Given the description of an element on the screen output the (x, y) to click on. 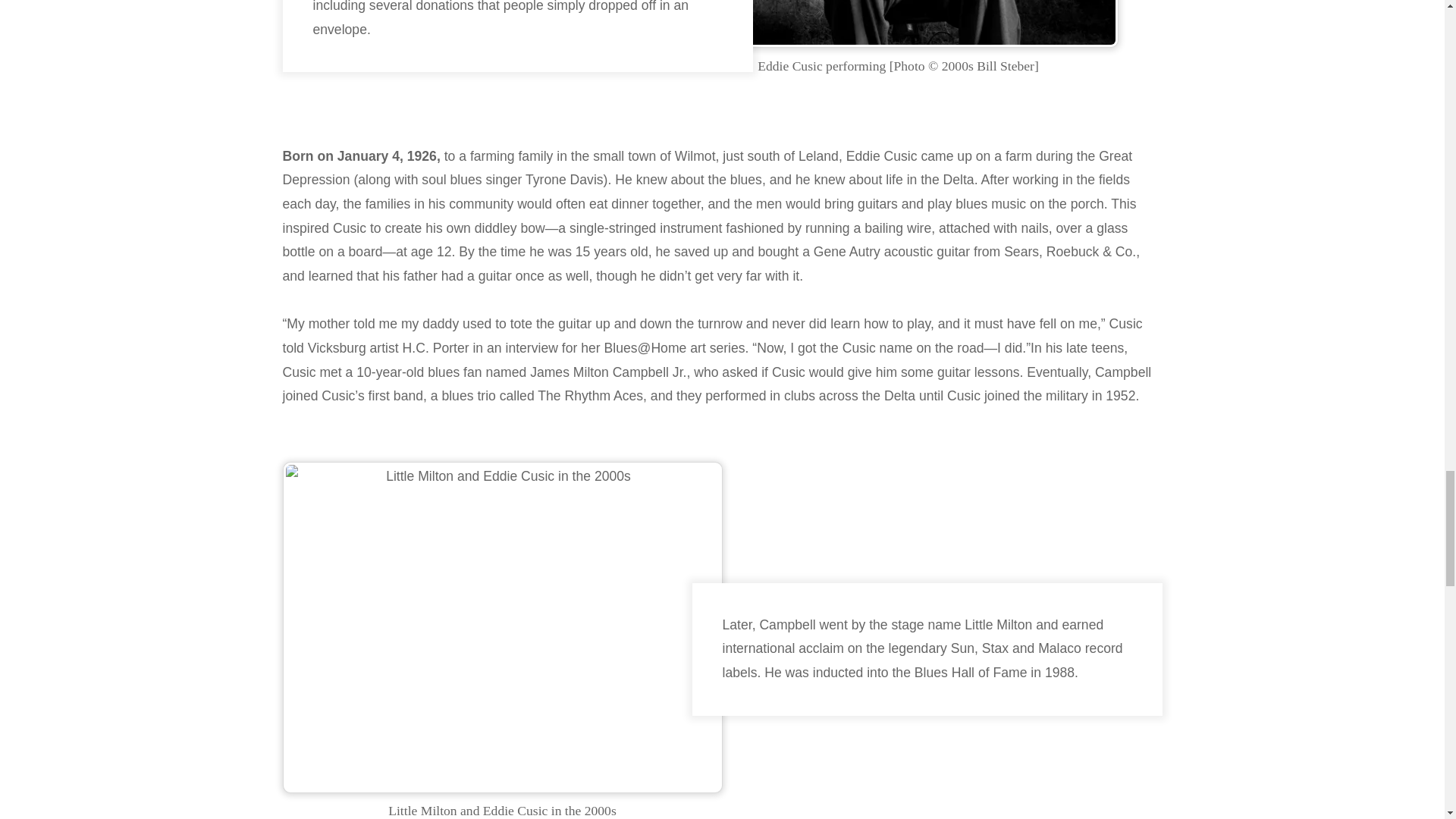
EddieCucicShed1 (898, 23)
